Given the description of an element on the screen output the (x, y) to click on. 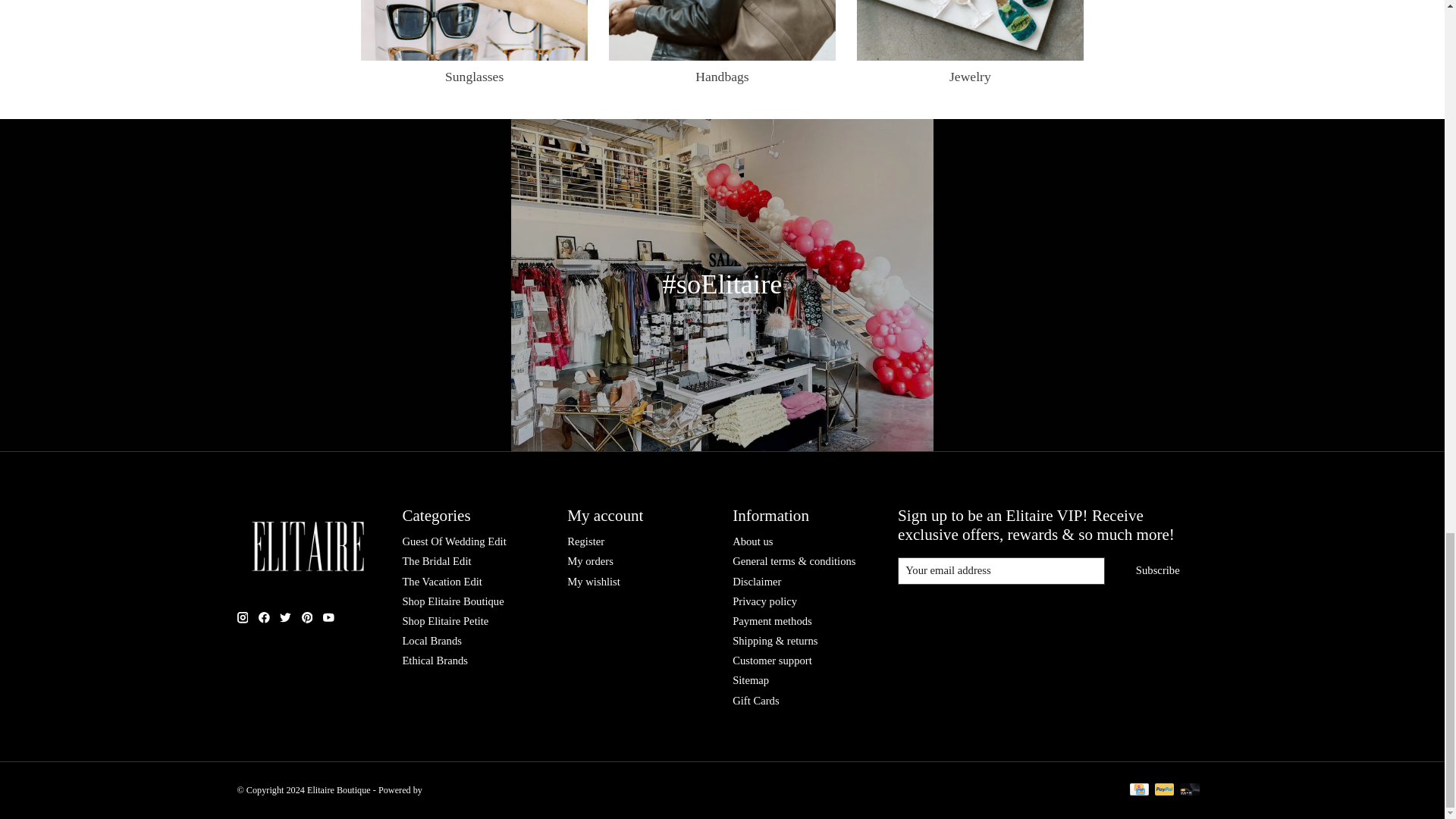
Handbags (721, 30)
Sunglasses (474, 30)
